Given the description of an element on the screen output the (x, y) to click on. 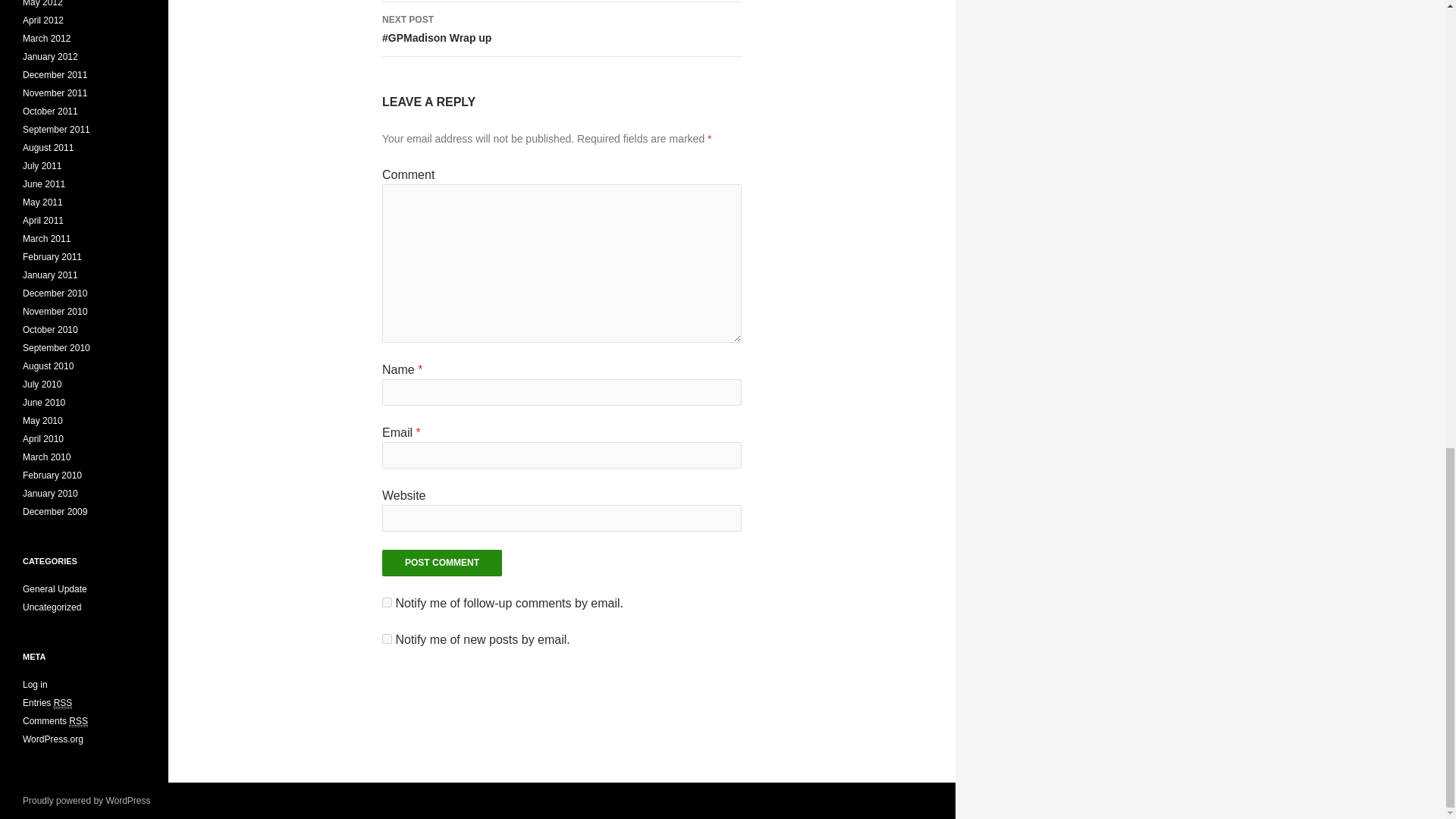
Really Simple Syndication (62, 703)
General, non game-specific updates (55, 588)
Really Simple Syndication (77, 721)
Post Comment (441, 562)
subscribe (386, 602)
subscribe (441, 562)
